Given the description of an element on the screen output the (x, y) to click on. 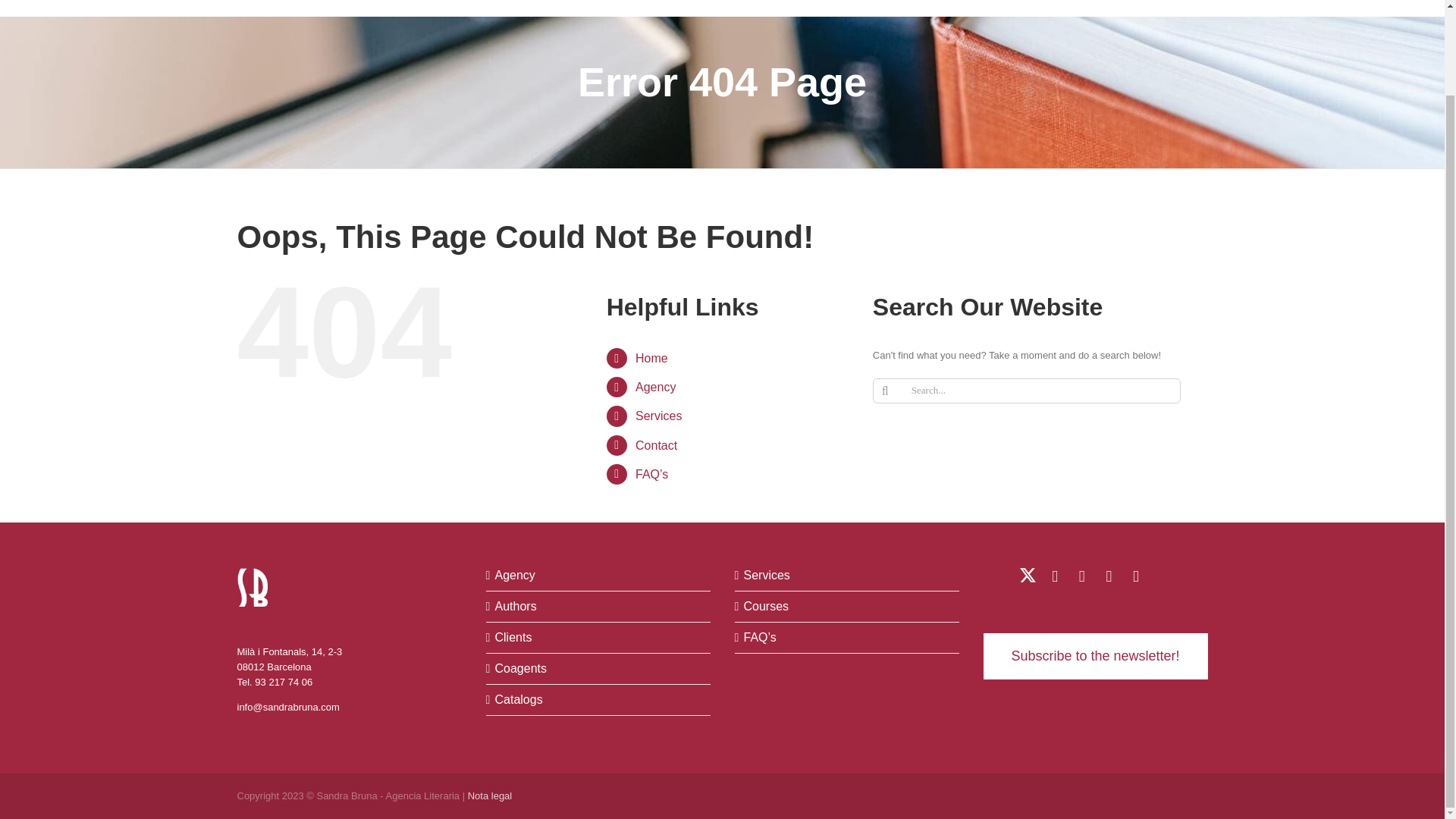
CATALOGS (834, 7)
CONTACT (1155, 7)
NEWS (1094, 7)
COURSES (983, 7)
AGENCY (542, 7)
Facebook (1108, 576)
LinkedIn (1054, 576)
YouTube (1081, 576)
BLOG (1044, 7)
AUTHORS (612, 7)
